Given the description of an element on the screen output the (x, y) to click on. 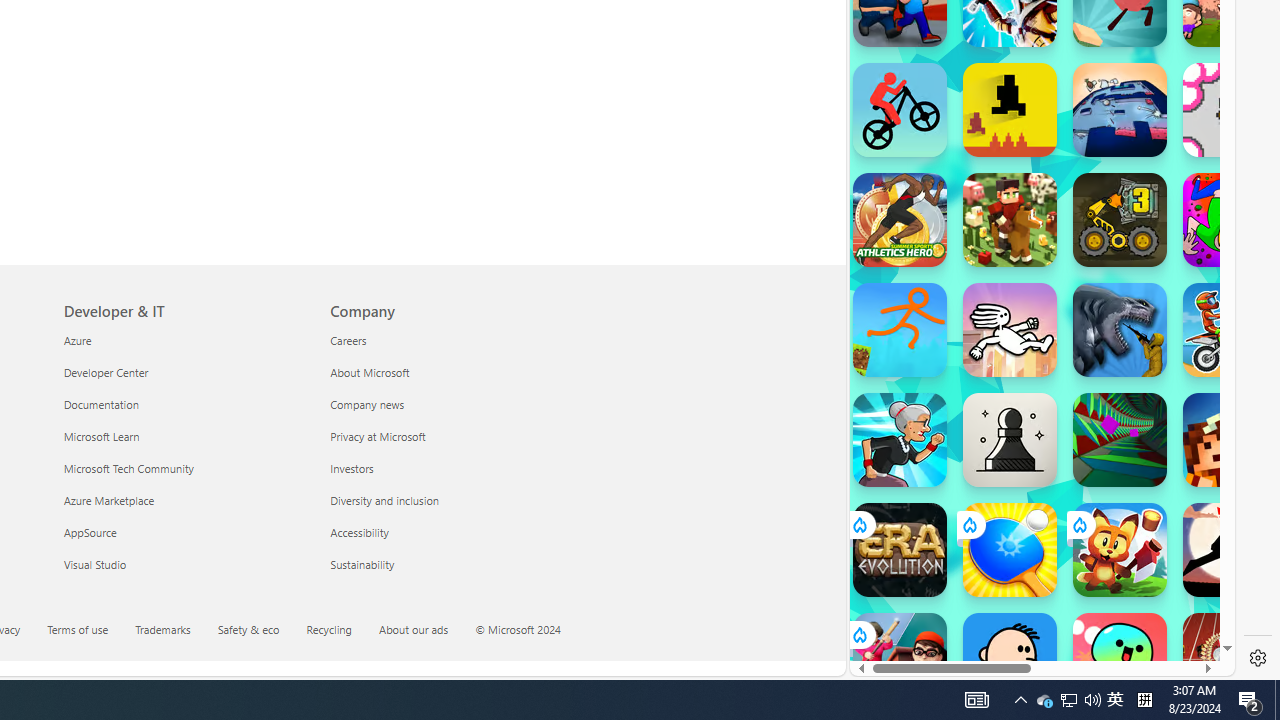
Developer Center Developer & IT (105, 372)
Athletics Hero Athletics Hero (899, 219)
100 Metres Race (1229, 659)
Era: Evolution Era: Evolution (899, 549)
Apple Knight: Farmers Market Apple Knight: Farmers Market (1009, 219)
Ping Pong Go! Ping Pong Go! (1009, 549)
Tunnel Rush Tunnel Rush (1119, 439)
Accessibility (451, 532)
School Escape! School Escape! (899, 659)
Microsoft Tech Community (184, 468)
Athletics Hero (899, 219)
Poor Eddie (1009, 659)
Visual Studio Developer & IT (94, 563)
